Given the description of an element on the screen output the (x, y) to click on. 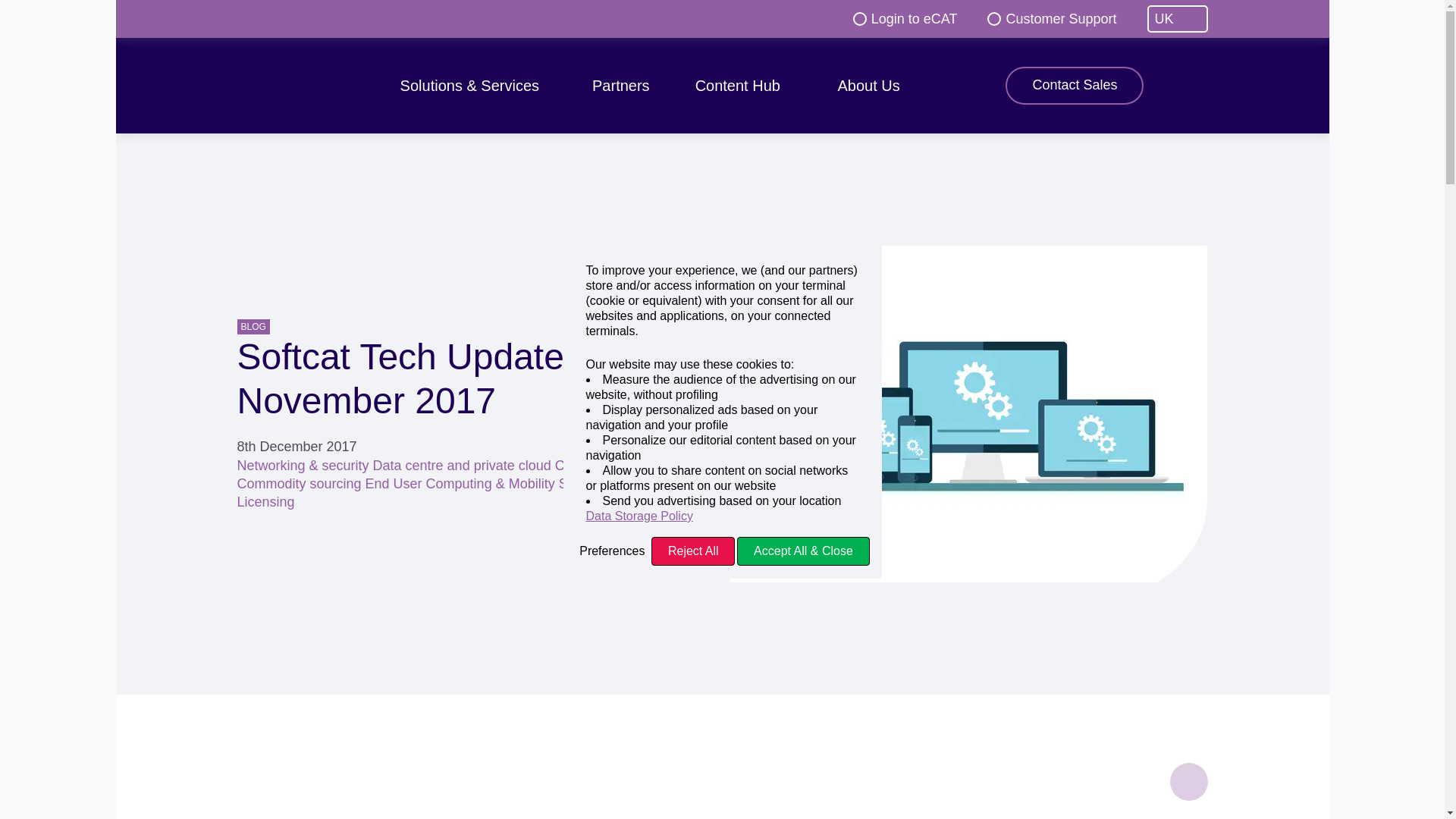
About Us (874, 85)
Home (292, 85)
Data Storage Policy (722, 516)
Login to eCAT (905, 18)
Customer Support (1051, 18)
Content Hub (743, 85)
UK (1177, 18)
Reject All (692, 551)
Partners (620, 85)
